Given the description of an element on the screen output the (x, y) to click on. 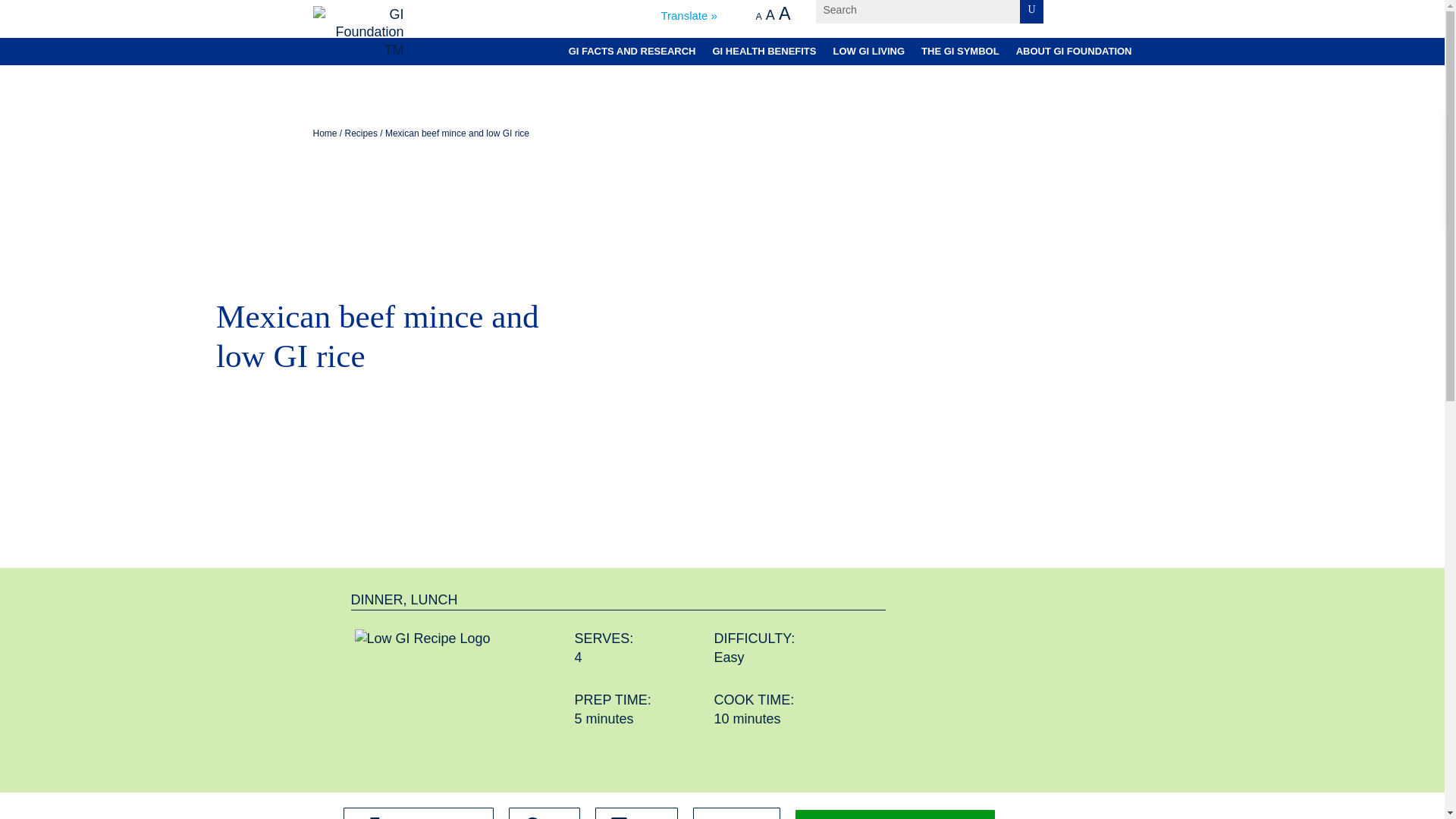
GI FACTS AND RESEARCH (632, 53)
LOW GI LIVING (868, 53)
U (1031, 11)
GI HEALTH BENEFITS (763, 53)
U (1031, 11)
U (1031, 11)
U (1031, 11)
U (1031, 11)
THE GI SYMBOL (959, 53)
